Given the description of an element on the screen output the (x, y) to click on. 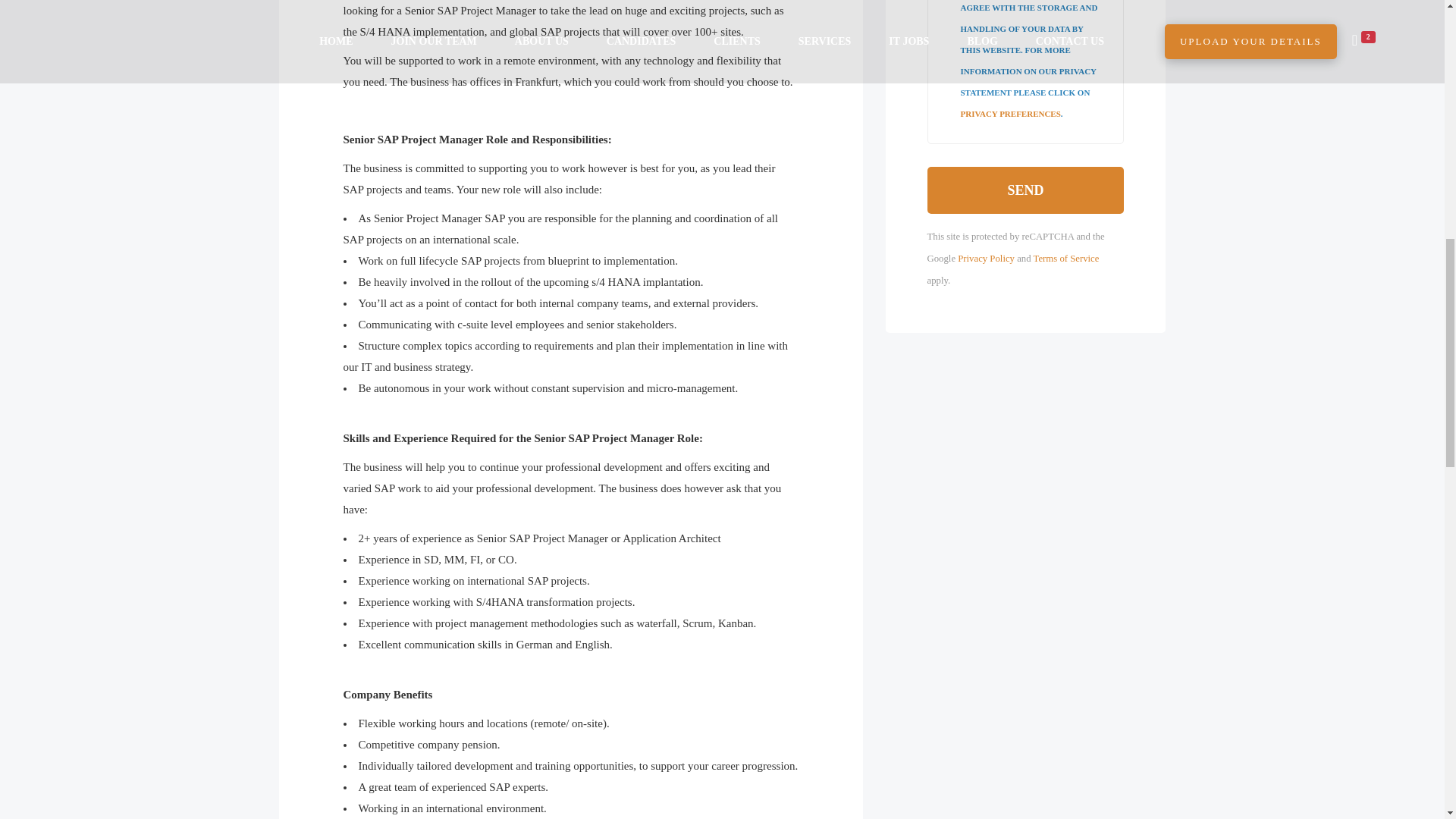
Send (1025, 190)
